Given the description of an element on the screen output the (x, y) to click on. 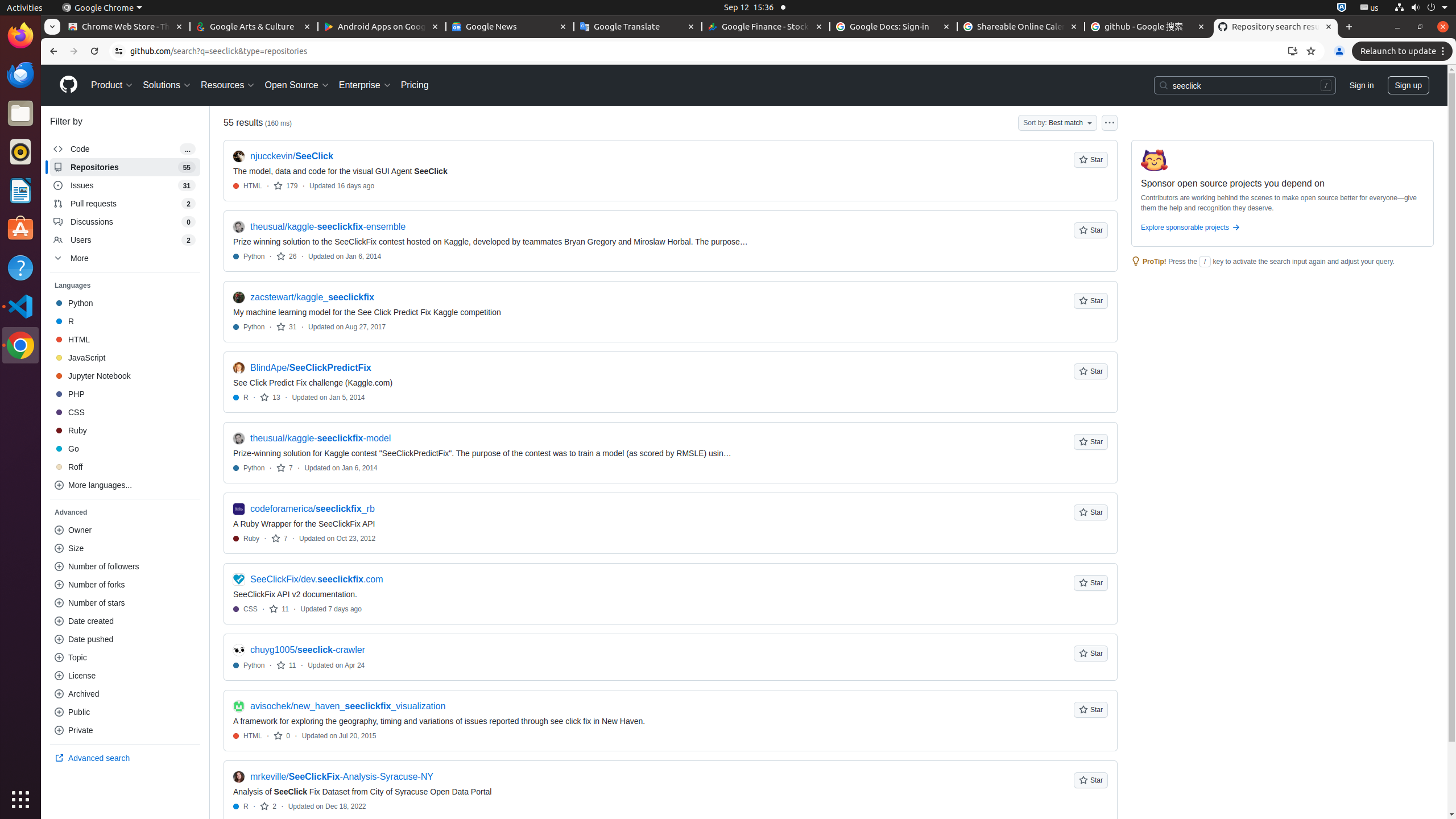
‎Owner‎ Element type: push-button (125, 529)
‎License‎ Element type: push-button (125, 675)
Help Element type: push-button (20, 267)
chuyg1005/seeclick-crawler Element type: link (307, 649)
179 stars Element type: link (285, 185)
